Given the description of an element on the screen output the (x, y) to click on. 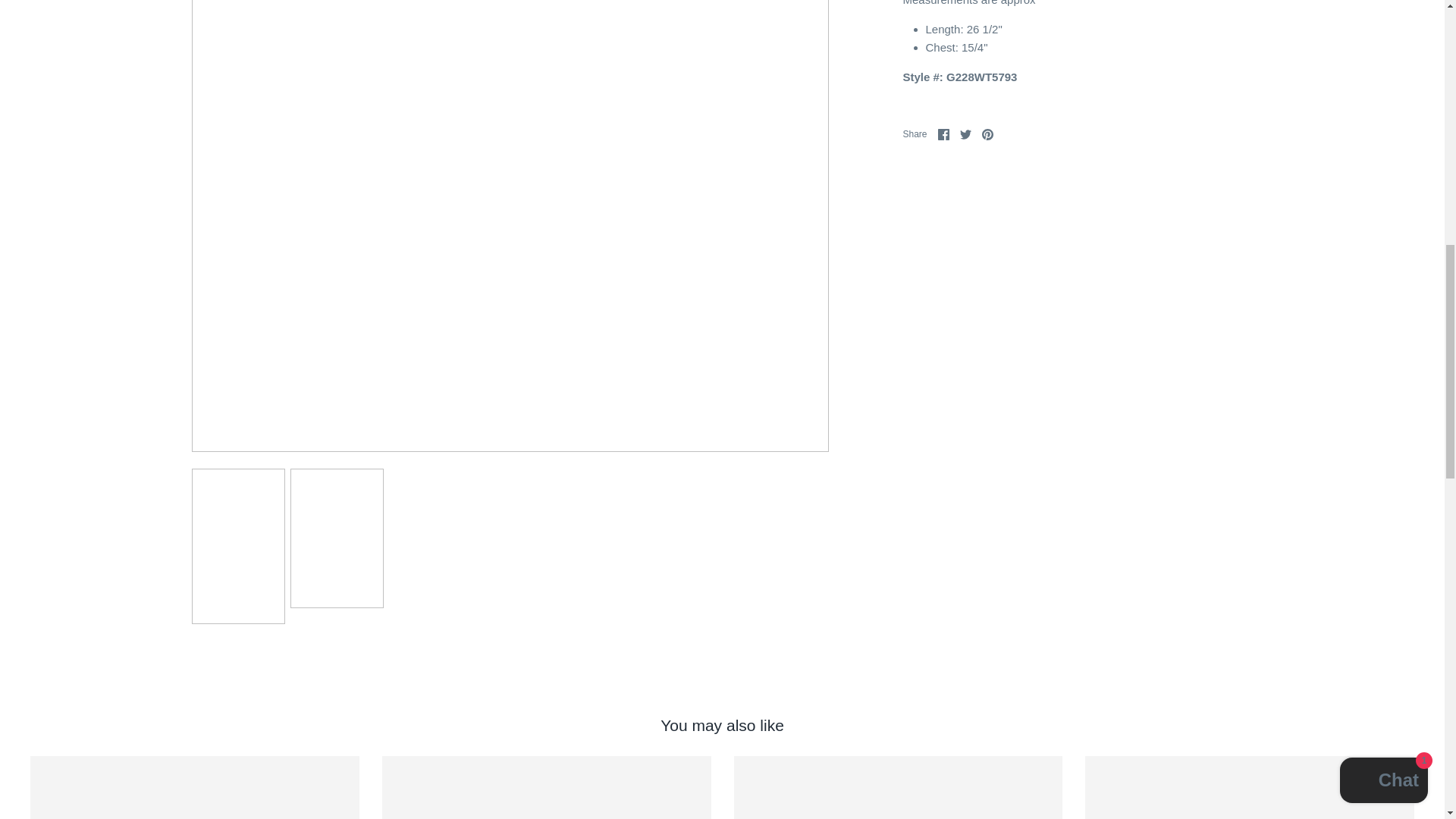
Twitter (965, 134)
Facebook (943, 134)
Pinterest (986, 134)
